Given the description of an element on the screen output the (x, y) to click on. 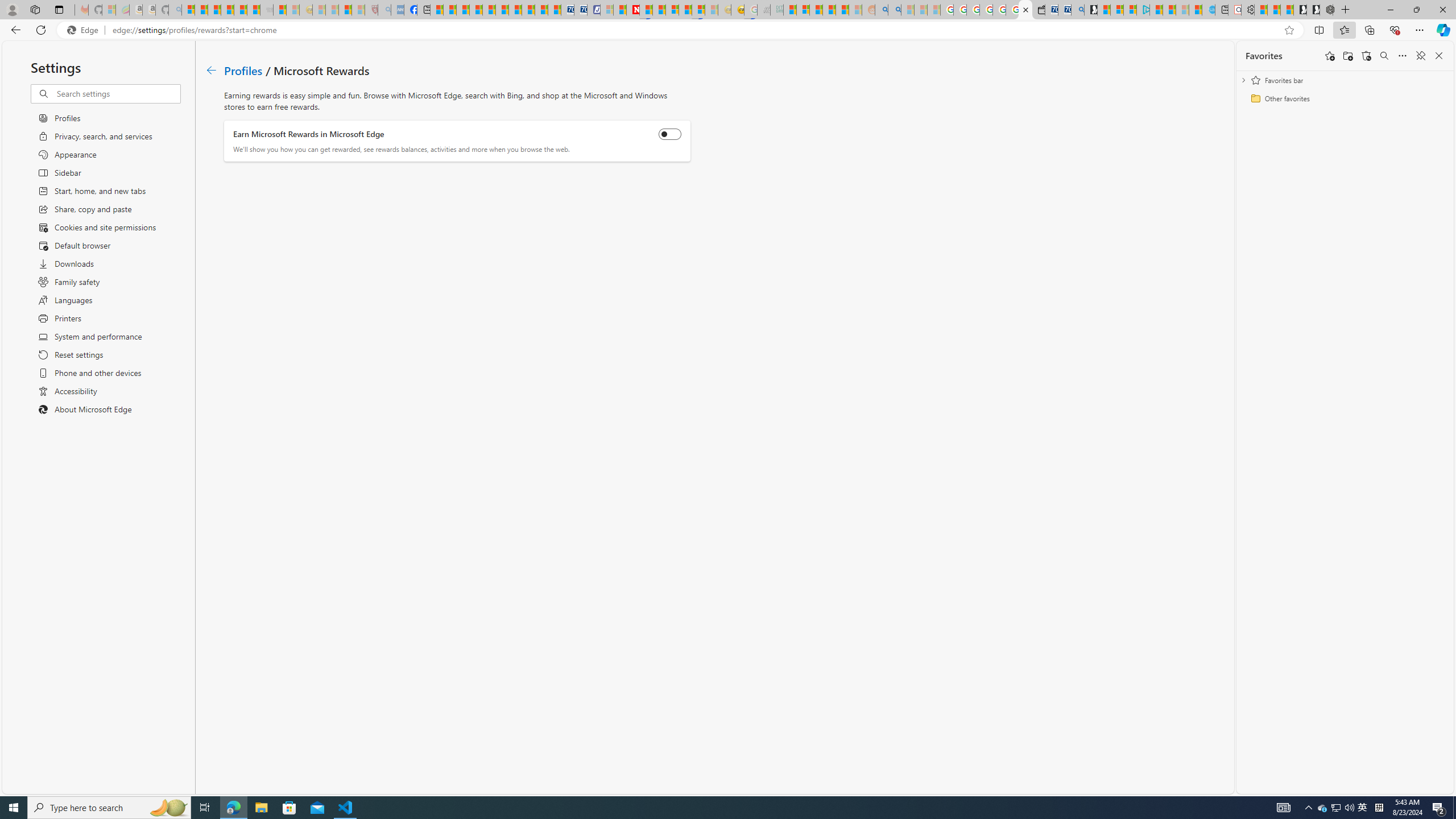
Restore deleted favorites (1366, 55)
Home | Sky Blue Bikes - Sky Blue Bikes (1208, 9)
